Given the description of an element on the screen output the (x, y) to click on. 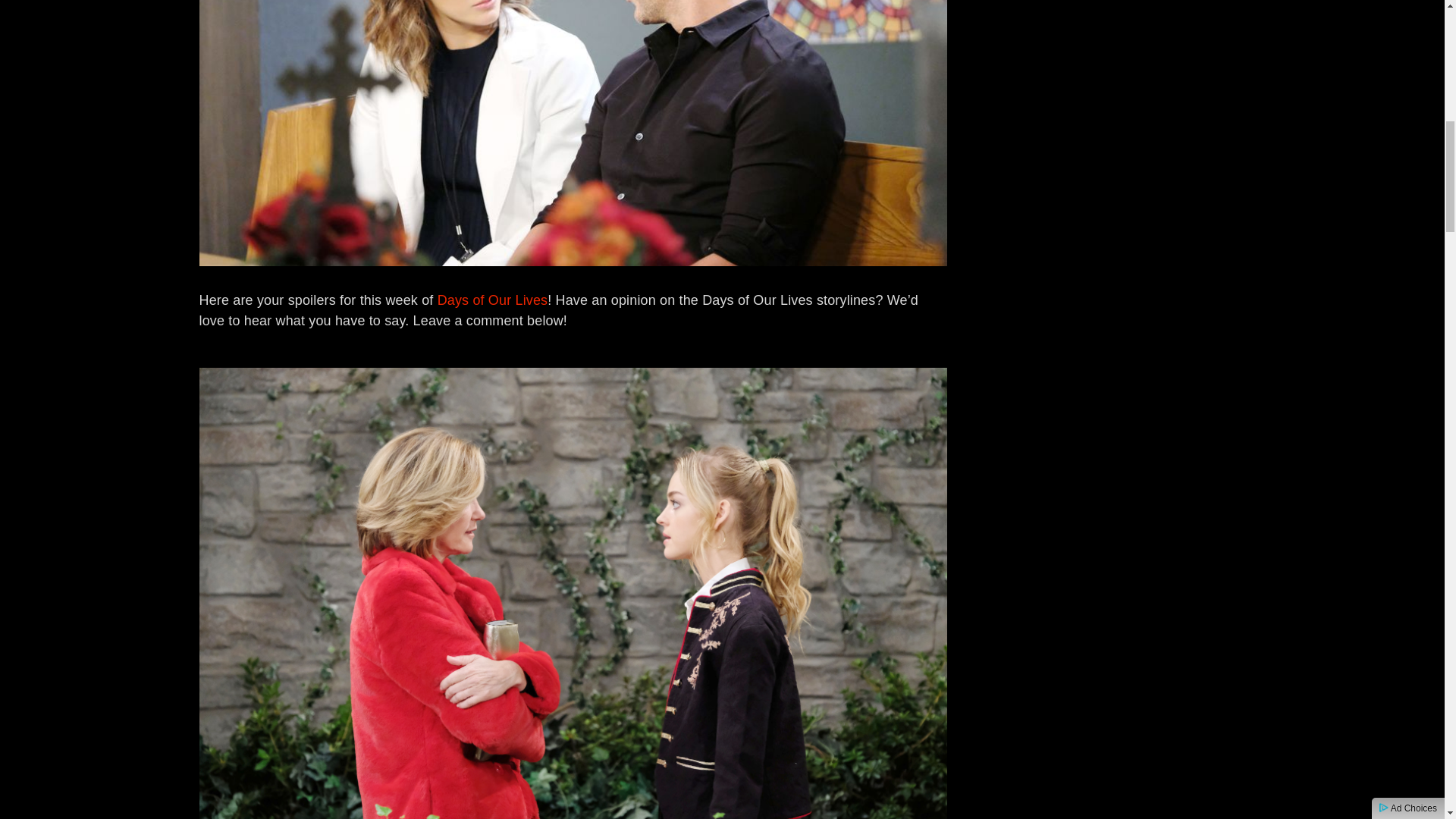
Days of Our Lives (493, 299)
